Given the description of an element on the screen output the (x, y) to click on. 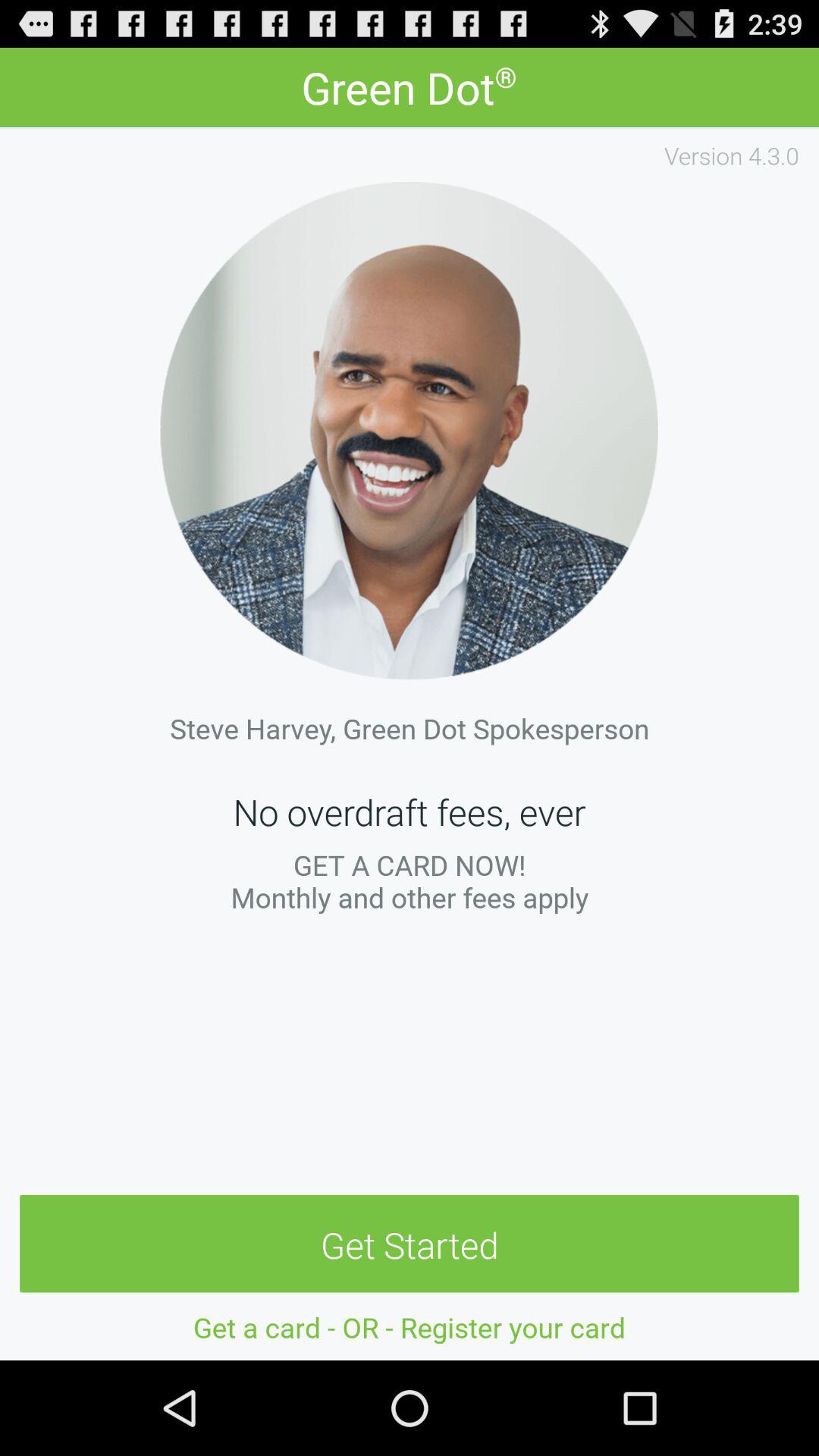
choose the icon above the get a card app (409, 1244)
